Given the description of an element on the screen output the (x, y) to click on. 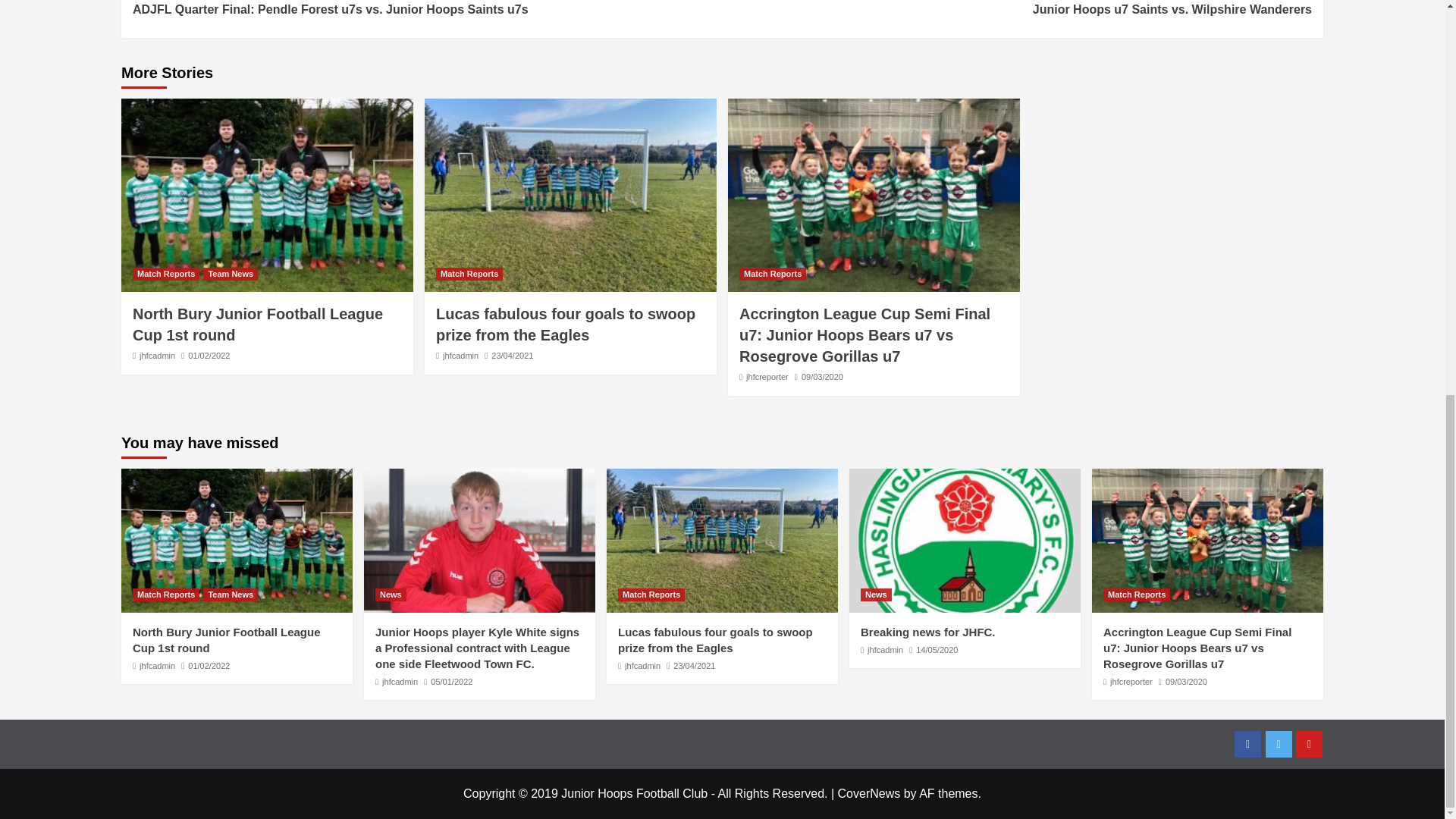
Team News (230, 273)
jhfcadmin (1016, 9)
North Bury Junior Football League Cup 1st round (156, 355)
Match Reports (257, 324)
